Given the description of an element on the screen output the (x, y) to click on. 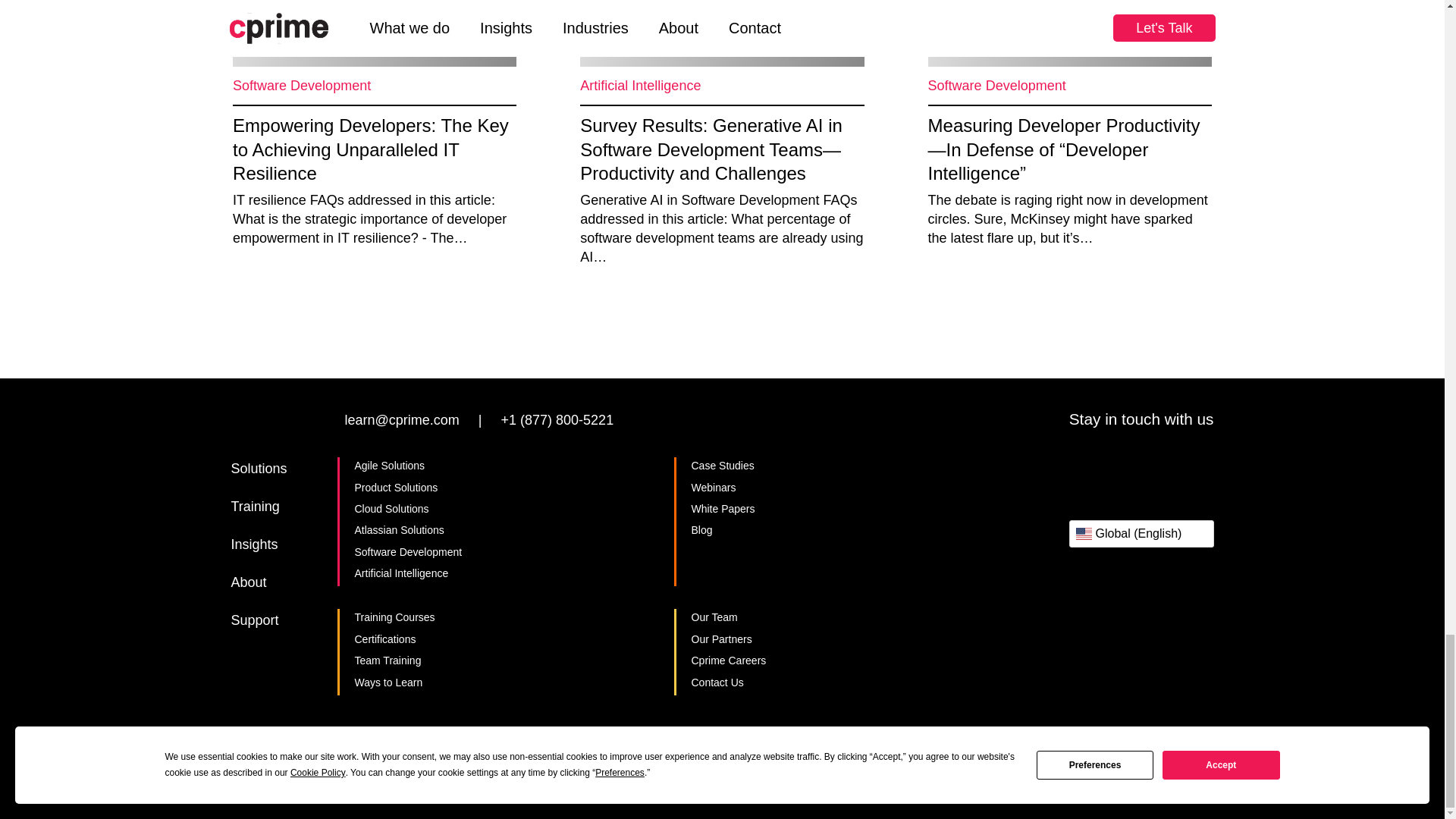
Cprime (267, 421)
